Given the description of an element on the screen output the (x, y) to click on. 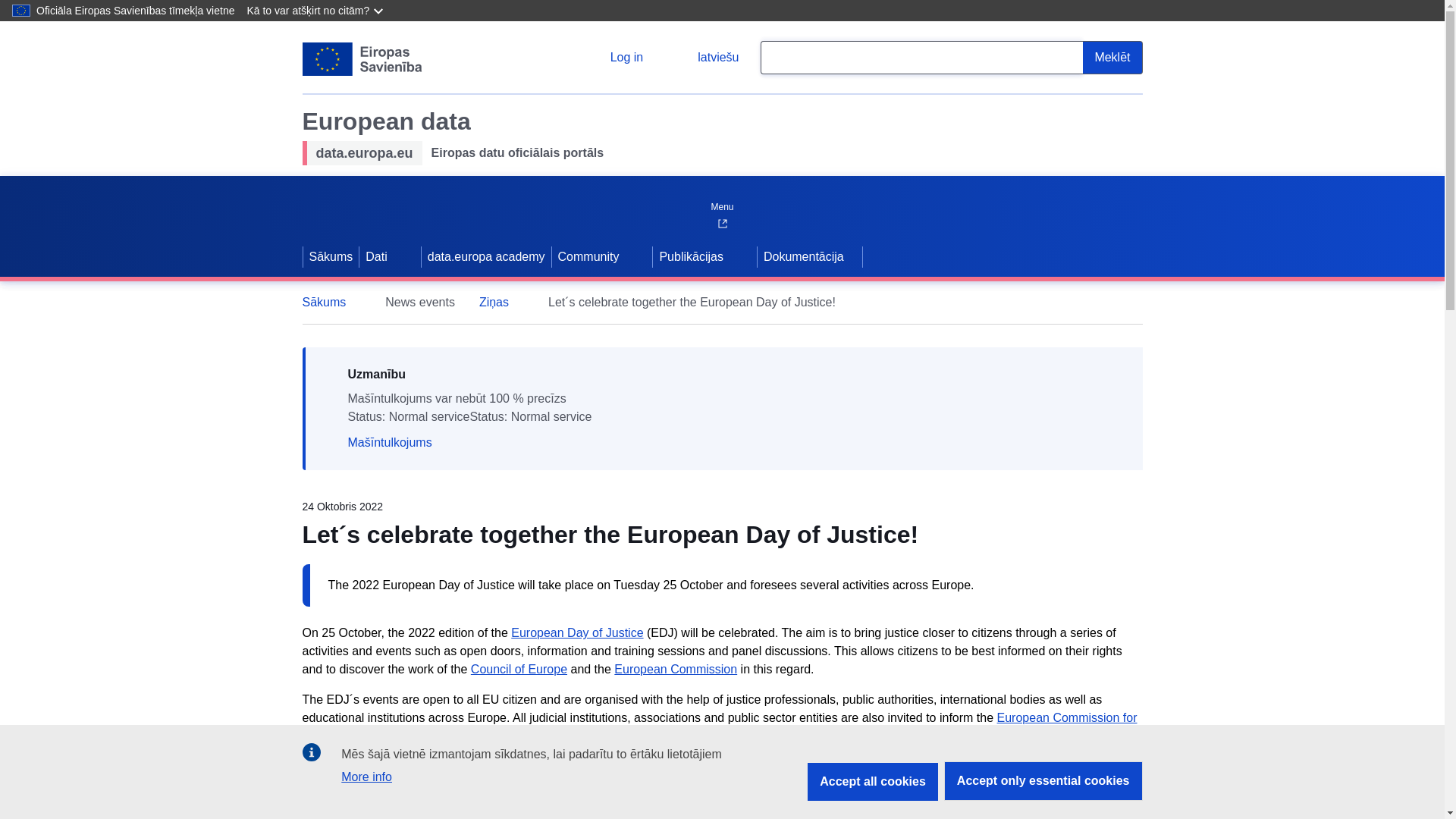
data.europa academy (486, 256)
Menu (721, 203)
Community (587, 256)
European Union (361, 59)
Log in (614, 57)
Dati (374, 256)
